Given the description of an element on the screen output the (x, y) to click on. 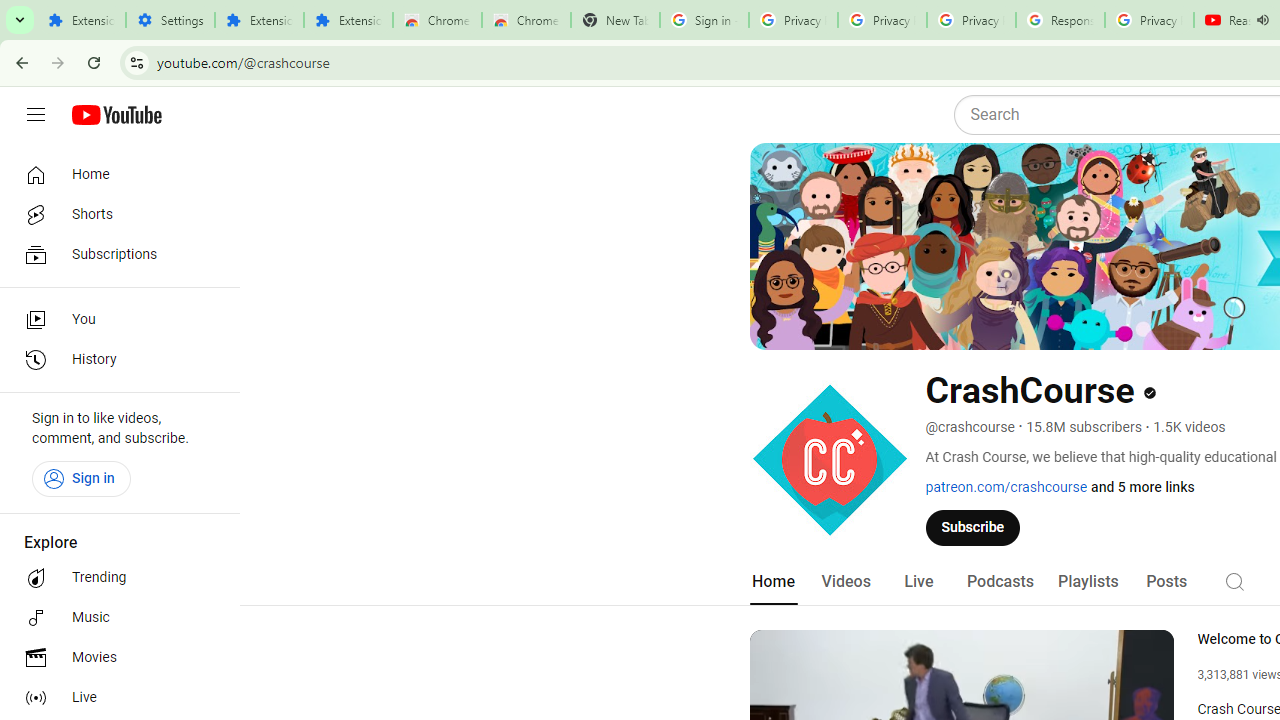
Home (772, 581)
New Tab (615, 20)
and 5 more links (1142, 487)
Playlists (1088, 581)
Home (113, 174)
Live (113, 697)
Subscribe (973, 527)
Chrome Web Store (437, 20)
